Given the description of an element on the screen output the (x, y) to click on. 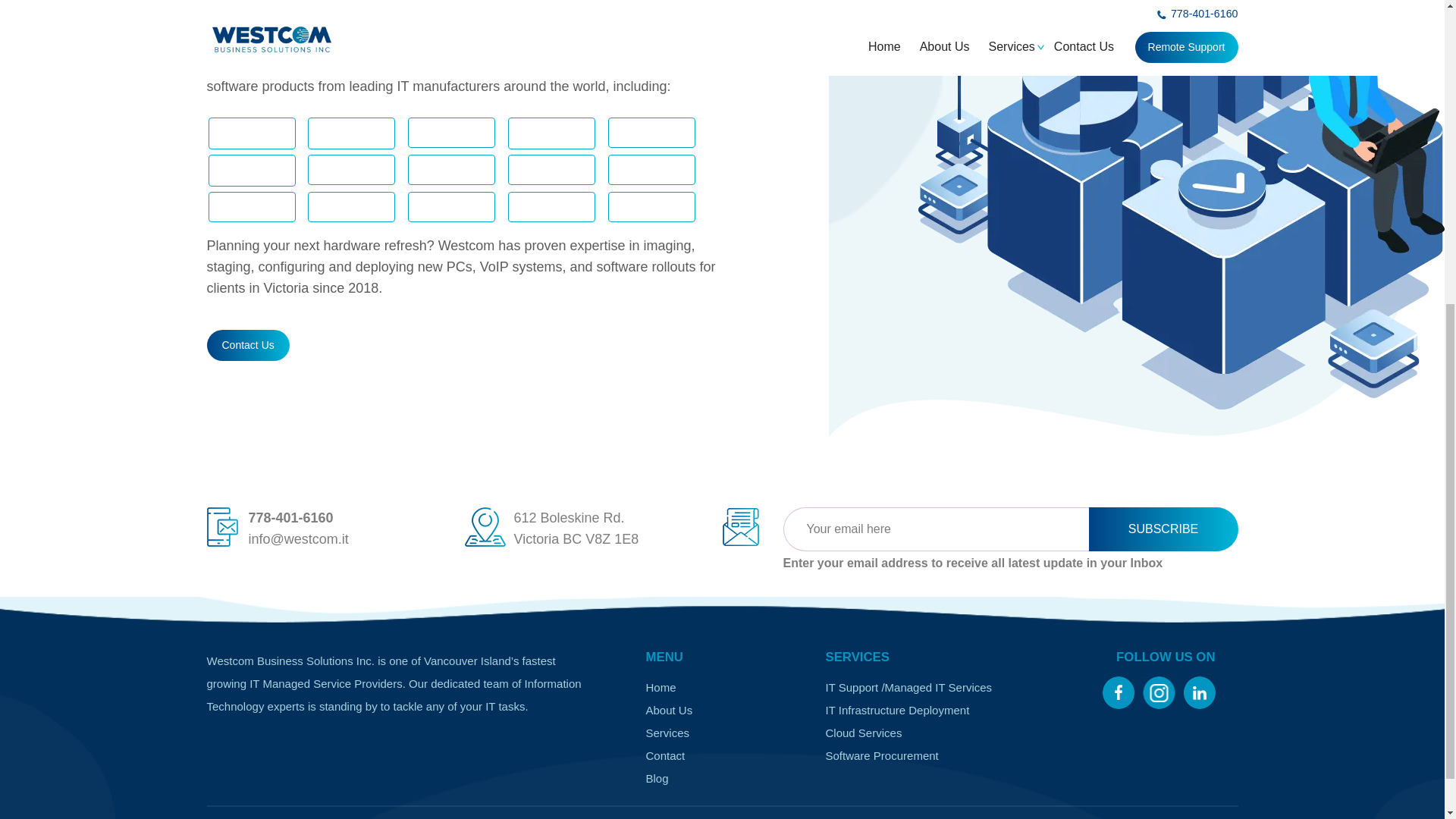
Software Procurement (881, 755)
Contact (665, 755)
Blog (657, 778)
778-401-6160 (290, 517)
About Us (669, 709)
facebook (1118, 687)
Services (668, 732)
Subscribe (1164, 528)
Subscribe (1164, 528)
Cloud Services (863, 732)
Home (661, 686)
linkedin (1198, 687)
instagram (1157, 687)
Contact Us (247, 345)
IT Infrastructure Deployment (897, 709)
